Given the description of an element on the screen output the (x, y) to click on. 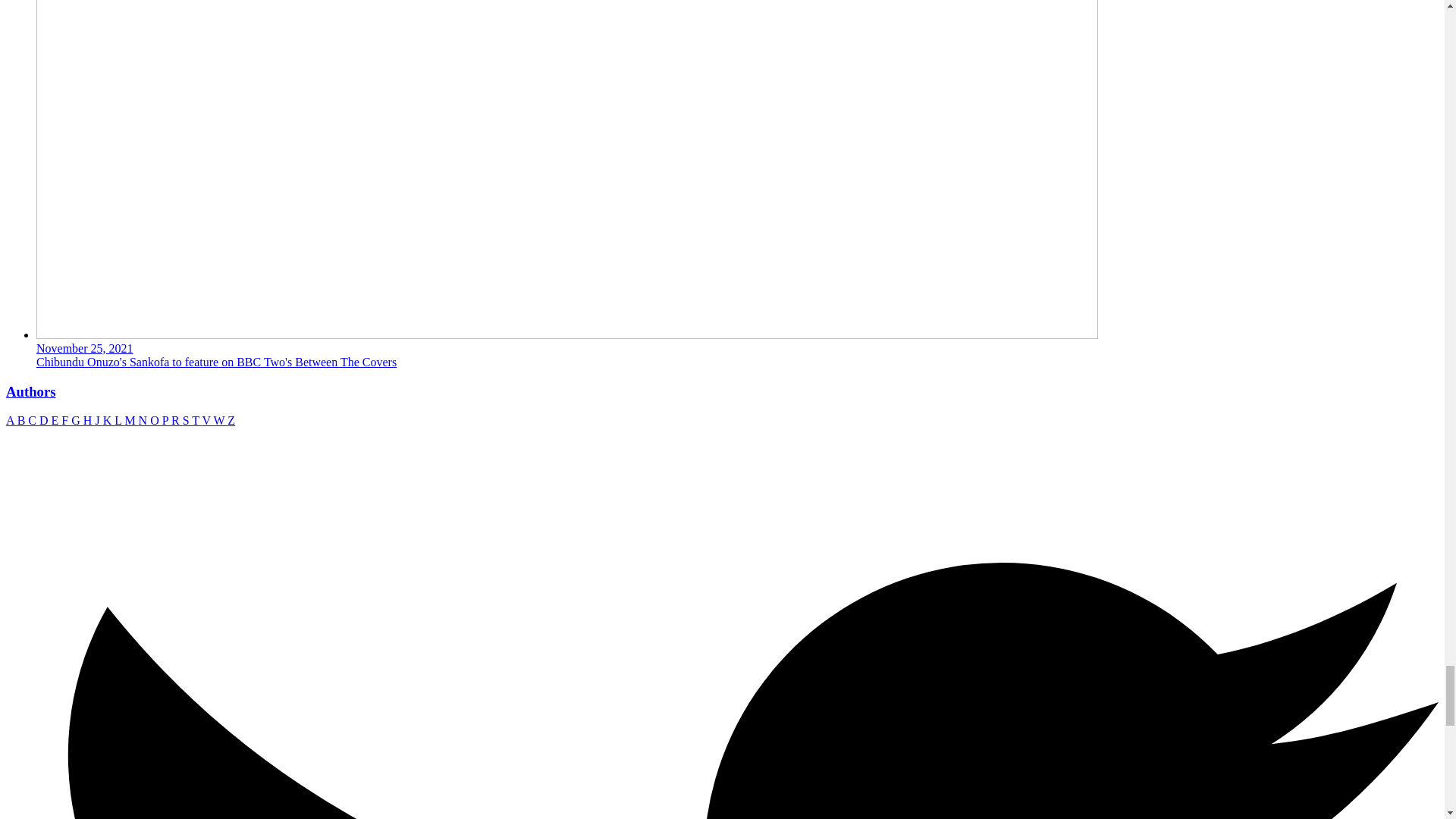
W (221, 420)
O (155, 420)
H (89, 420)
M (130, 420)
D (44, 420)
K (109, 420)
N (144, 420)
Authors (30, 391)
G (76, 420)
